Given the description of an element on the screen output the (x, y) to click on. 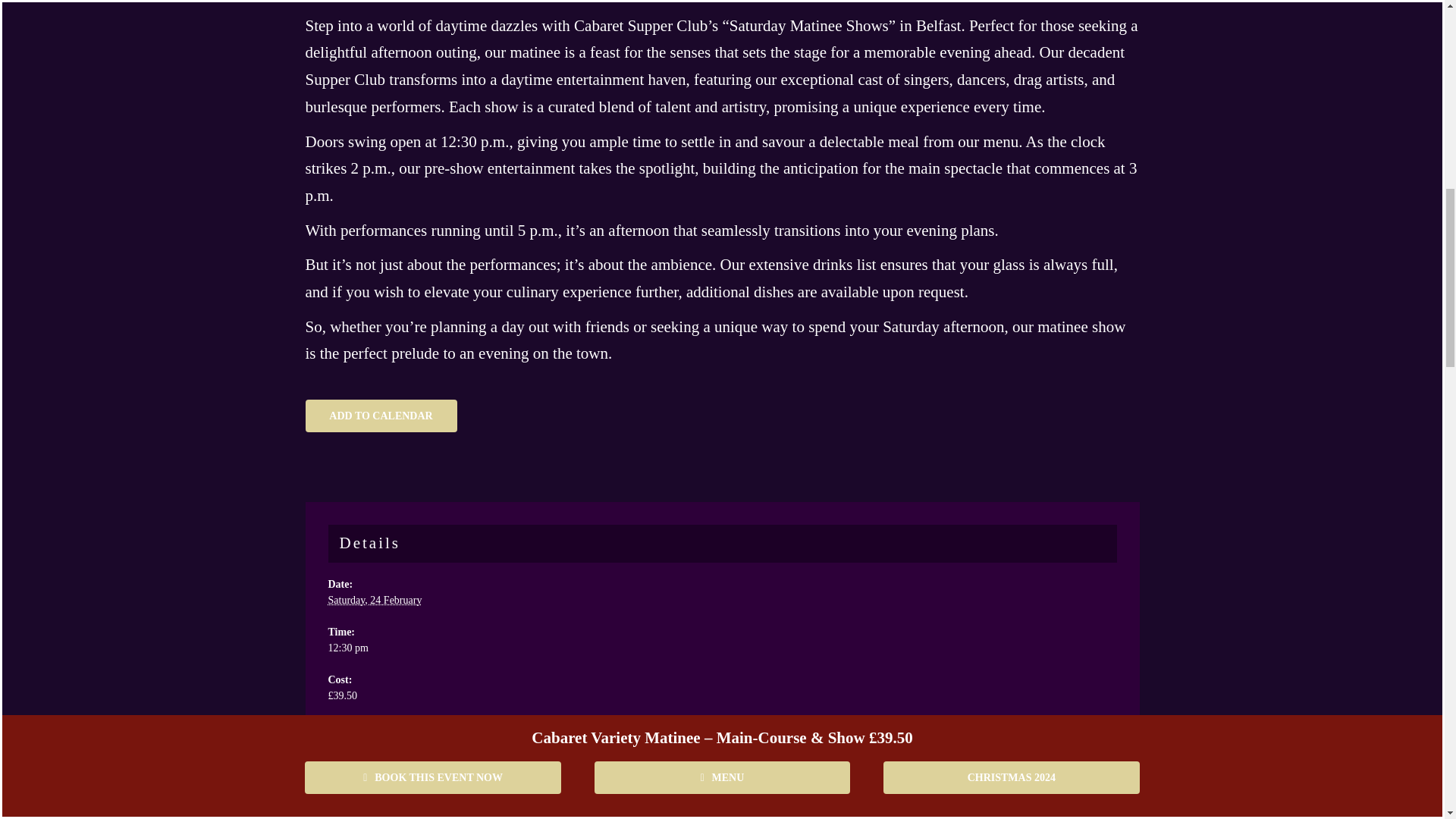
2024-02-24 (721, 647)
ADD TO CALENDAR (380, 415)
2024-02-24 (374, 600)
